Given the description of an element on the screen output the (x, y) to click on. 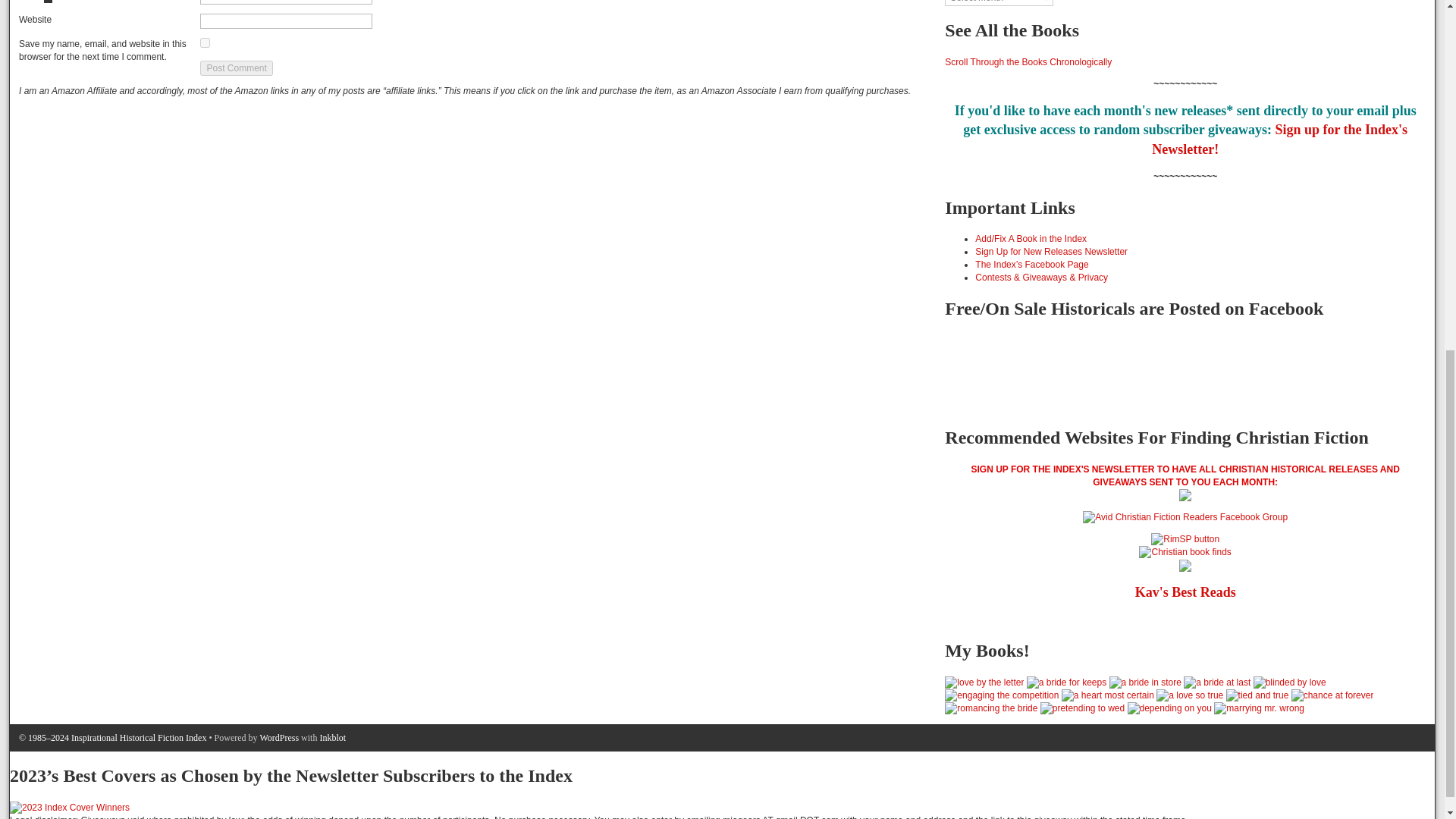
yes (204, 42)
Post Comment (236, 68)
Reading Is My SuperPower (1185, 538)
